Given the description of an element on the screen output the (x, y) to click on. 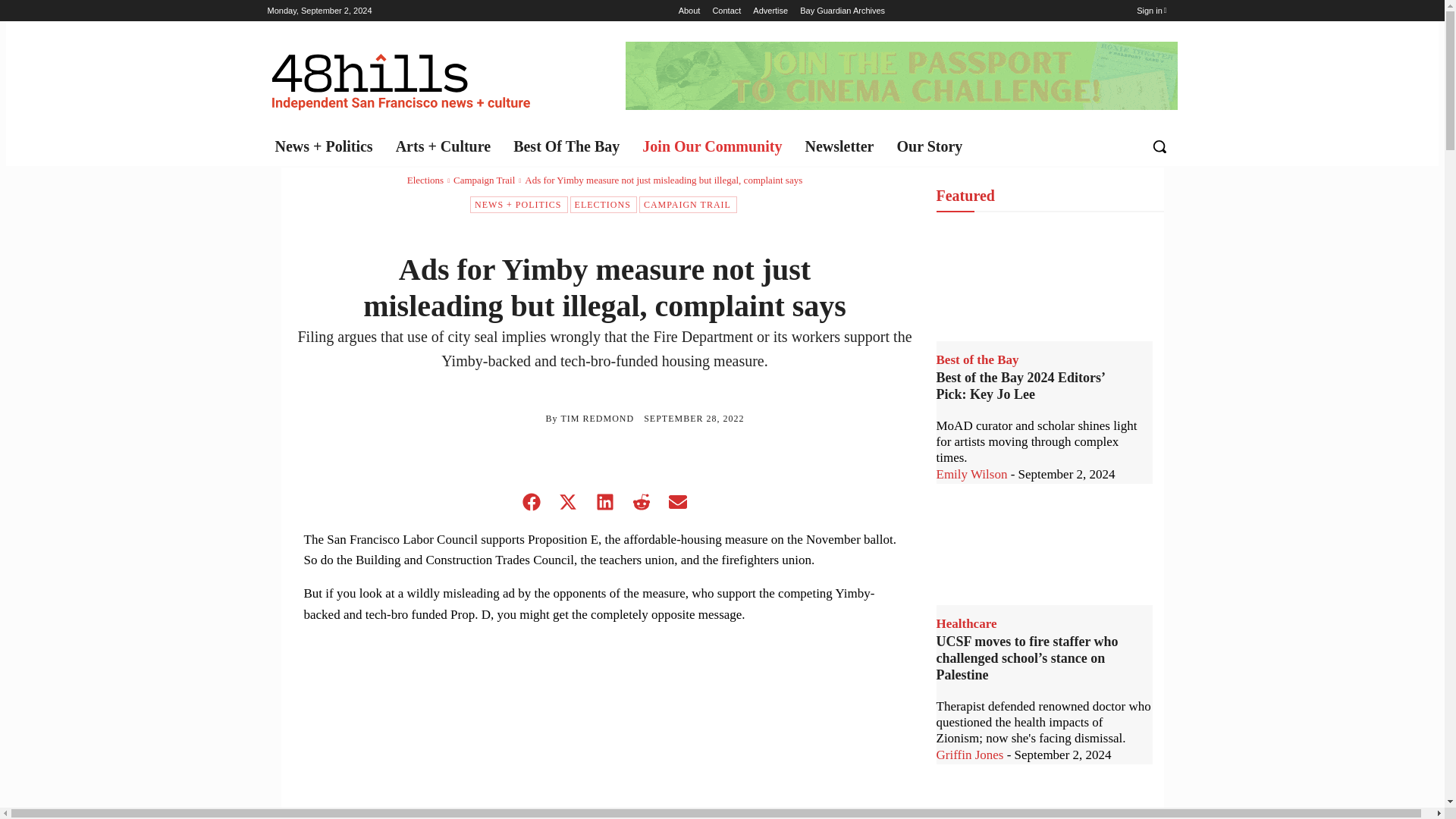
About (689, 10)
Tim Redmond (504, 418)
Contact (726, 10)
48 Hills (403, 77)
Join Our Community (715, 145)
View all posts in Campaign Trail (483, 179)
Our Story (932, 145)
Bay Guardian Archives (842, 10)
View all posts in Elections (425, 179)
Sign in (1151, 10)
